Given the description of an element on the screen output the (x, y) to click on. 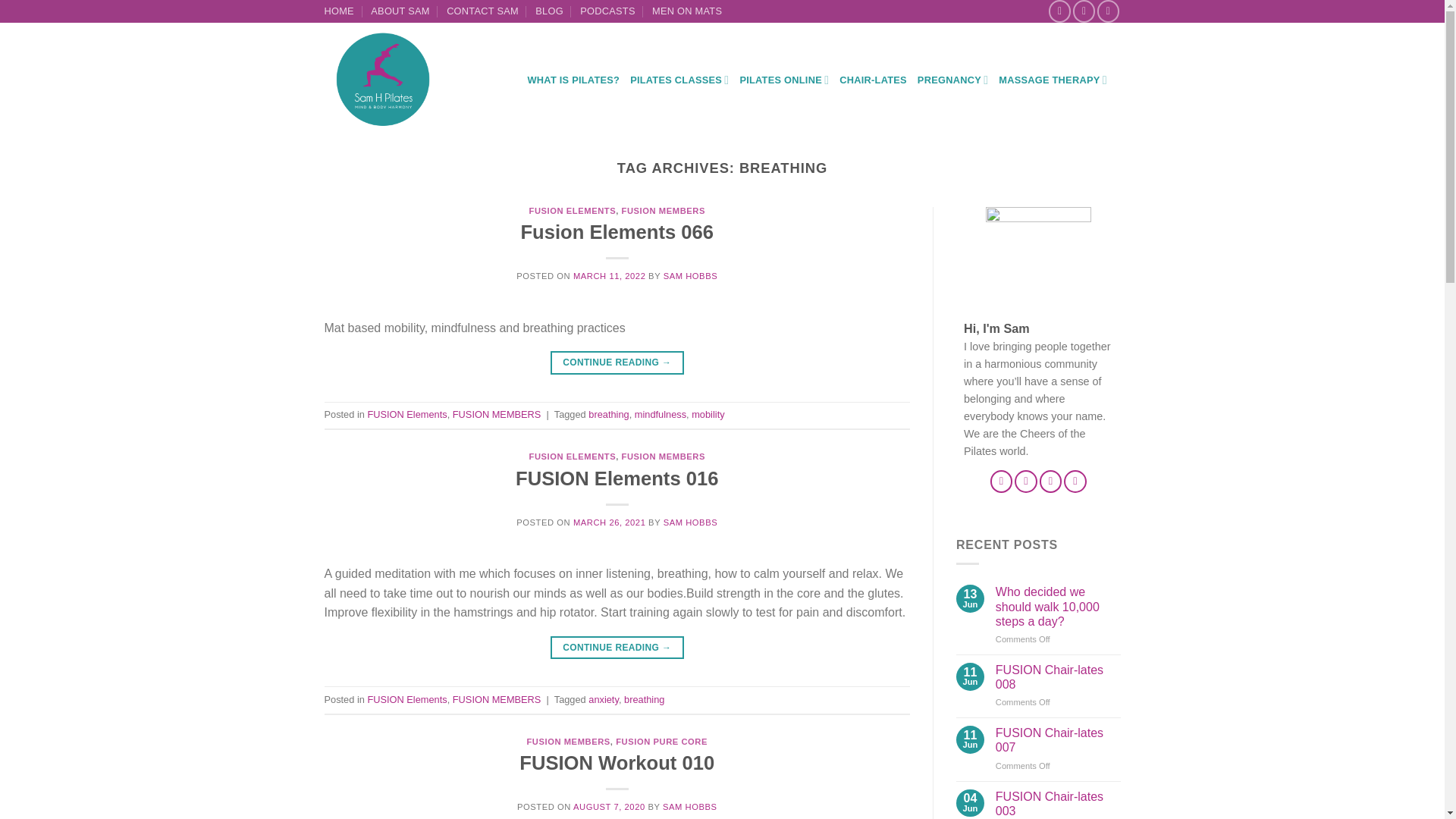
Follow on Facebook (1059, 11)
Follow on Pinterest (1075, 481)
Fusion Elements 066 (616, 231)
FUSION Chair-lates 008 (1058, 676)
MASSAGE THERAPY (1052, 79)
CHAIR-LATES (873, 79)
Follow on Instagram (1025, 481)
PREGNANCY (952, 79)
FUSION Chair-lates 007 (1058, 739)
Follow on Instagram (1083, 11)
HOME (338, 11)
PILATES CLASSES (679, 79)
ABOUT SAM (400, 11)
Send us an email (1050, 481)
CONTACT SAM (482, 11)
